Given the description of an element on the screen output the (x, y) to click on. 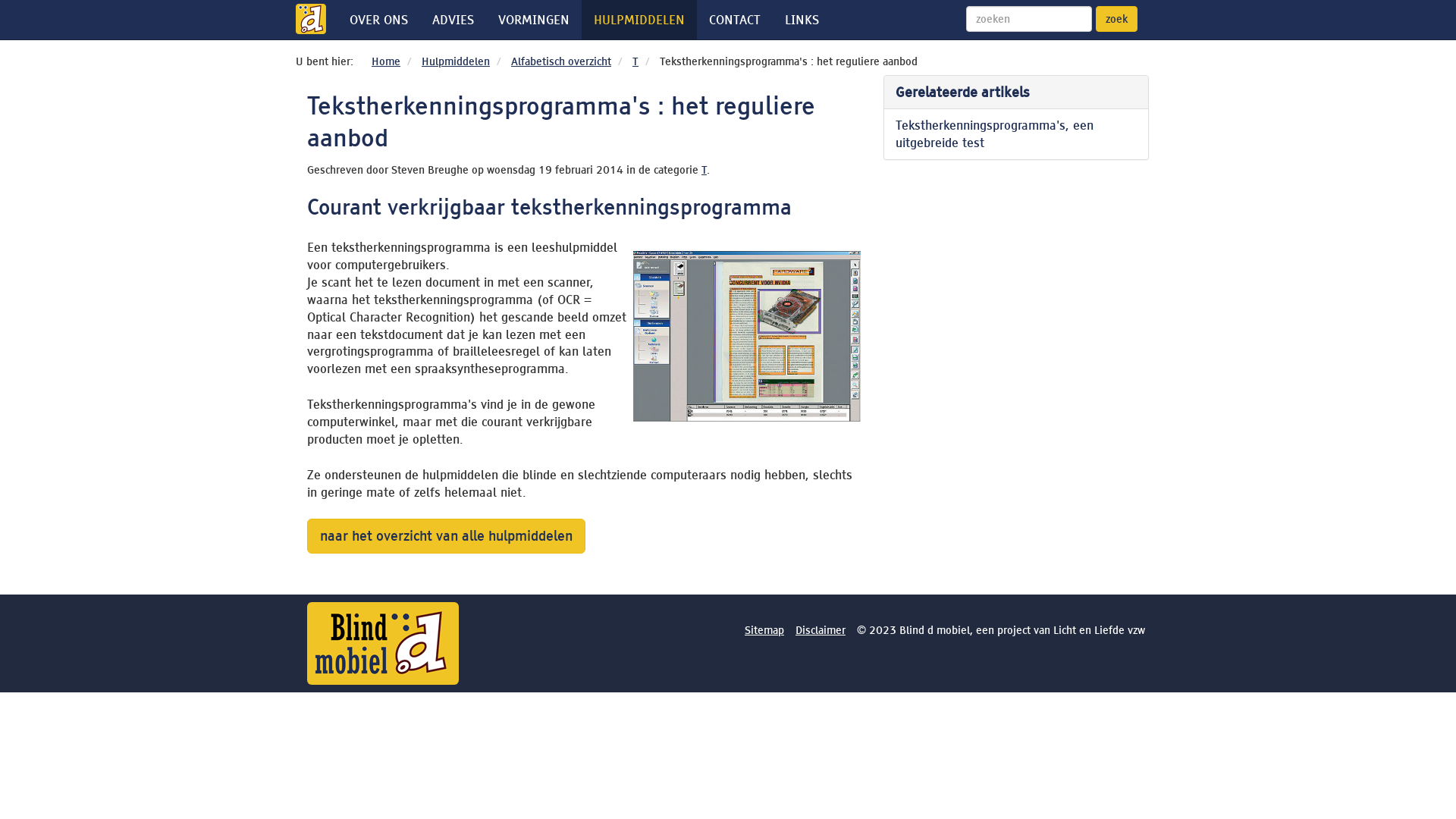
LINKS Element type: text (801, 19)
zoek Element type: text (1116, 18)
CONTACT Element type: text (734, 19)
VORMINGEN Element type: text (533, 19)
Disclaimer Element type: text (820, 630)
Alfabetisch overzicht Element type: text (561, 61)
Tekstherkenningsprogramma's, een uitgebreide test Element type: text (1016, 134)
ADVIES Element type: text (453, 19)
Hulpmiddelen Element type: text (455, 61)
HULPMIDDELEN Element type: text (638, 19)
T Element type: text (703, 169)
OVER ONS Element type: text (378, 19)
naar het overzicht van alle hulpmiddelen Element type: text (446, 535)
T Element type: text (635, 61)
Home Element type: text (385, 61)
Sitemap Element type: text (764, 630)
